Given the description of an element on the screen output the (x, y) to click on. 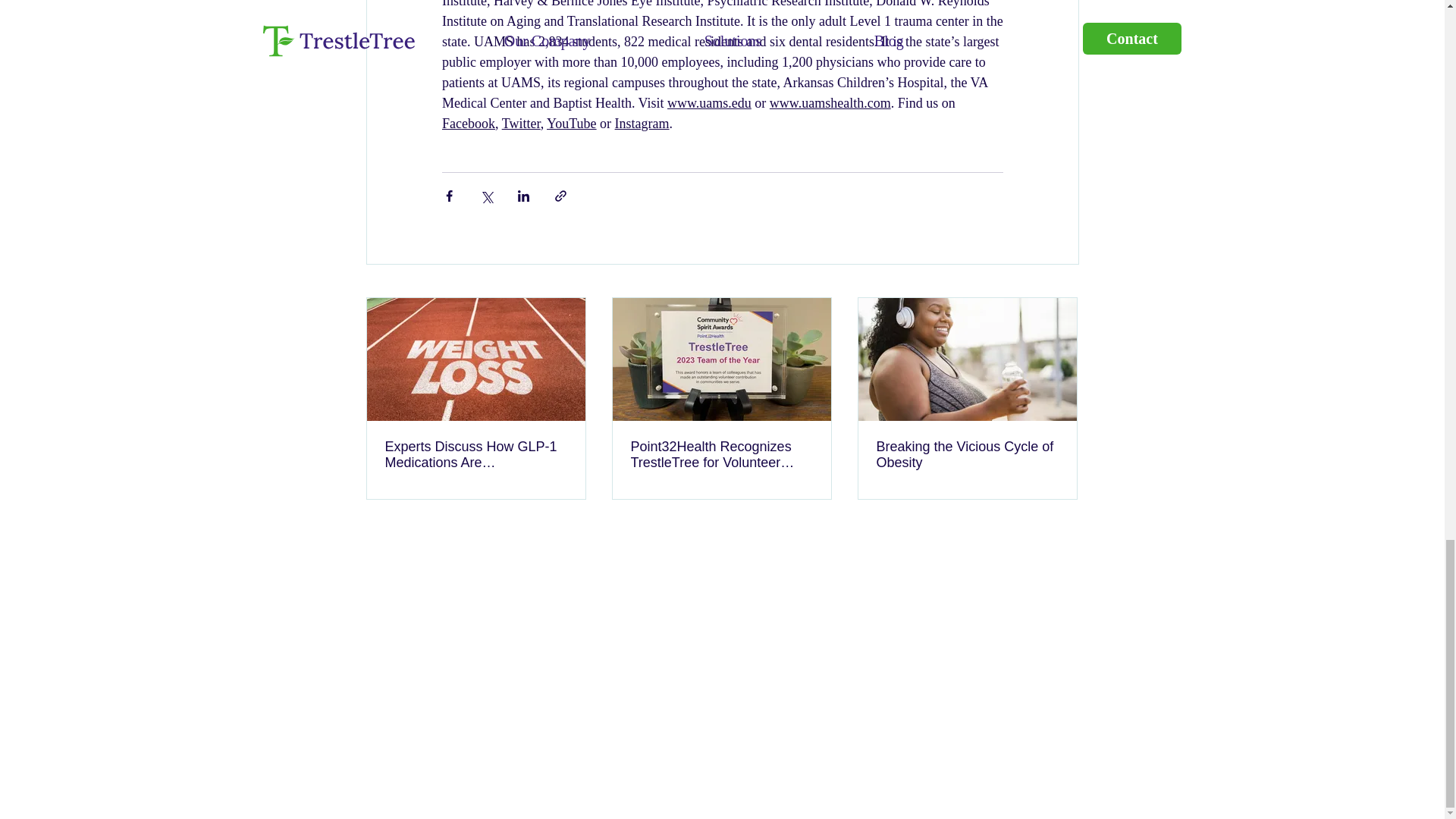
YouTube (571, 123)
www.uams.edu (708, 102)
www.uamshealth.com (828, 102)
Facebook (468, 123)
Twitter (520, 123)
Breaking the Vicious Cycle of Obesity (967, 454)
Instagram (641, 123)
